Given the description of an element on the screen output the (x, y) to click on. 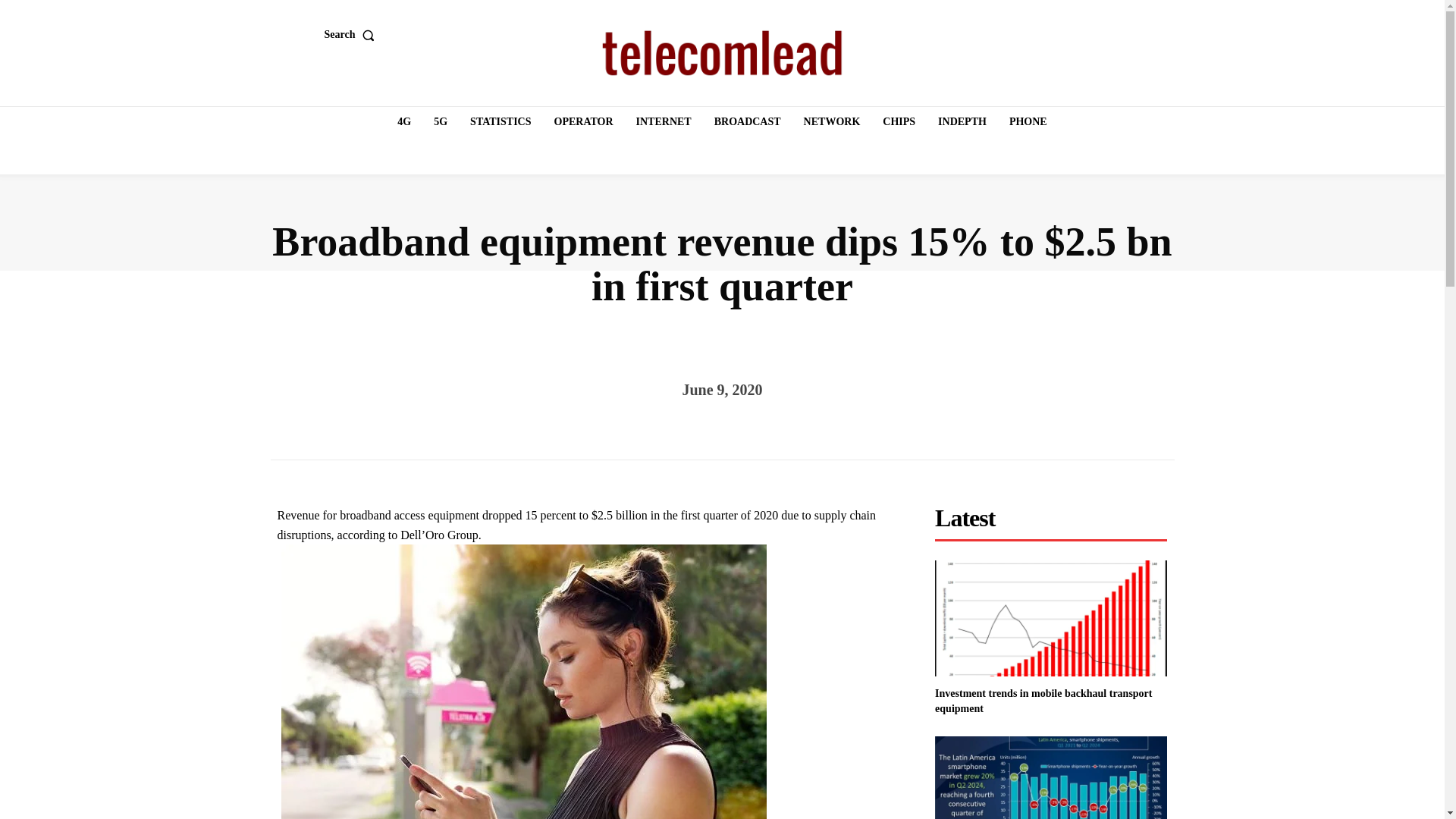
CHIPS (899, 122)
INDEPTH (962, 122)
Investment trends in mobile backhaul transport equipment (1042, 700)
BROADCAST (747, 122)
tl (722, 53)
4G (404, 122)
PHONE (1027, 122)
5G (440, 122)
STATISTICS (500, 122)
INTERNET (663, 122)
